Given the description of an element on the screen output the (x, y) to click on. 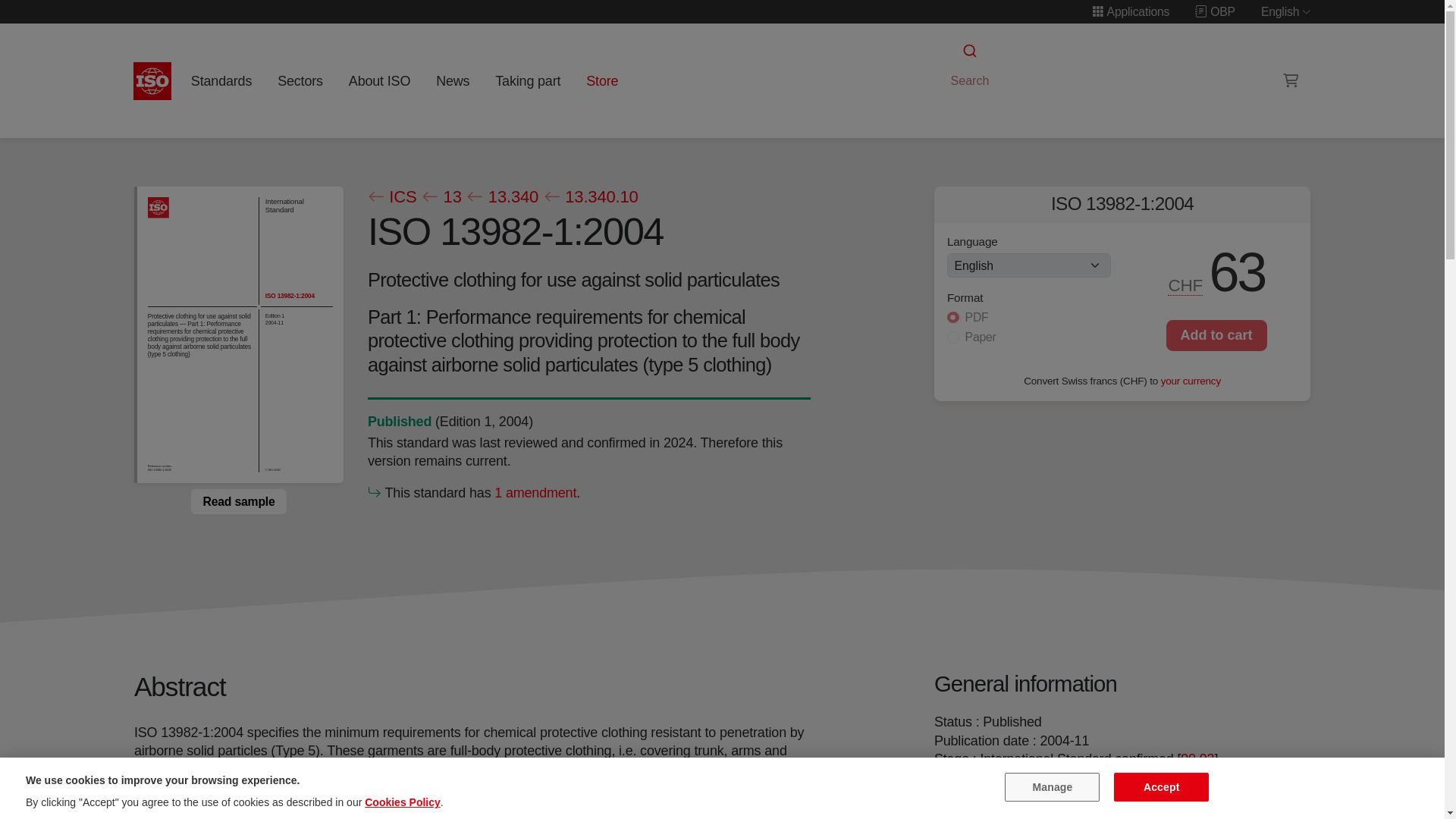
Online Browsing Platform (1214, 11)
13.340 (501, 197)
Life cycle (398, 420)
ICS (391, 197)
1 amendment (535, 491)
13.340.10 (590, 197)
90.93 (1197, 758)
Published (398, 420)
 OBP (1214, 11)
Shopping cart (1290, 80)
News (452, 80)
International Organization for Standardization (152, 80)
English (1285, 11)
